Given the description of an element on the screen output the (x, y) to click on. 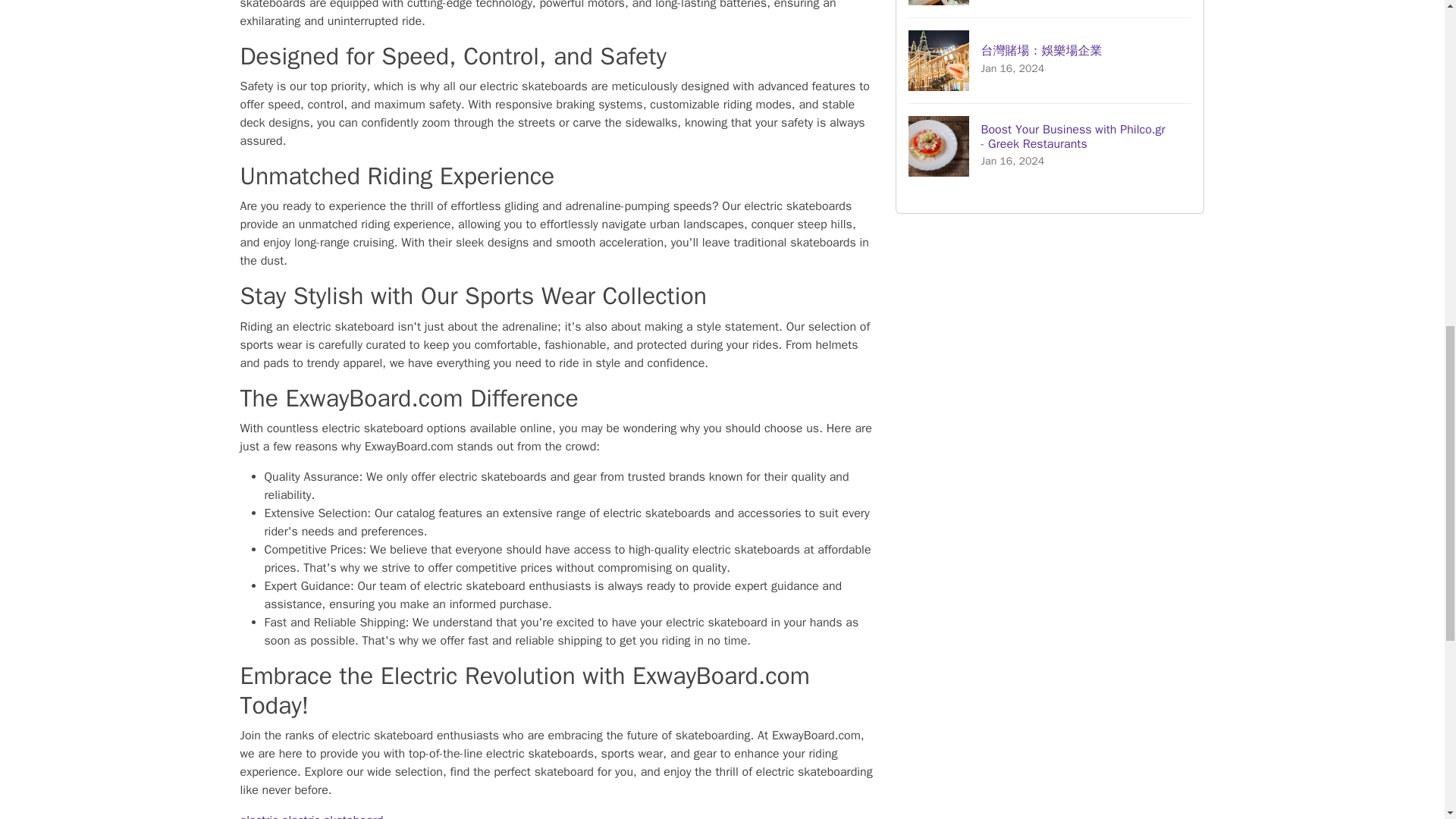
electric electric skateboard (311, 816)
